Given the description of an element on the screen output the (x, y) to click on. 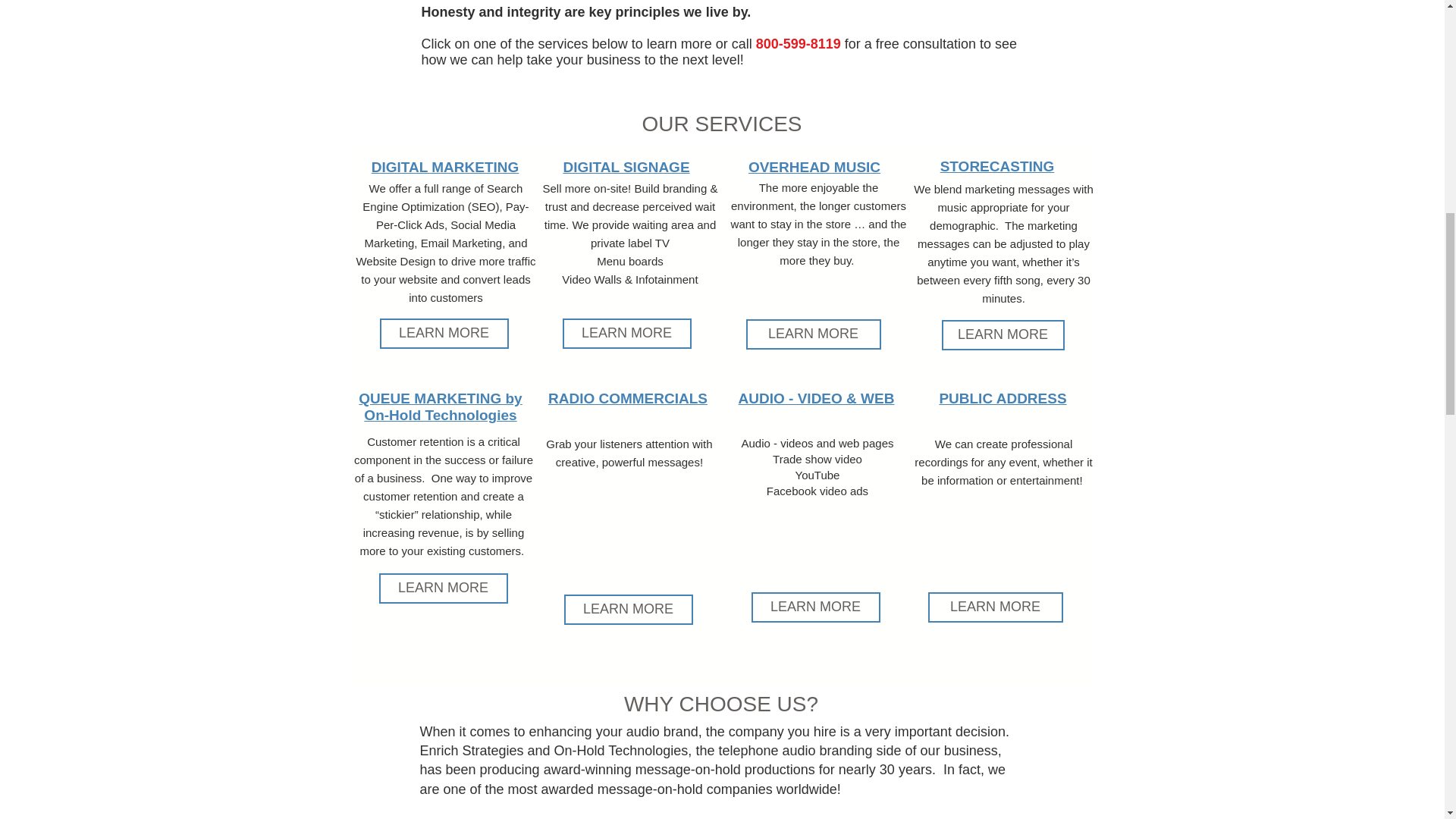
LEARN MORE (995, 607)
QUEUE MARKETING by On-Hold Technologies (439, 406)
PUBLIC ADDRESS (1002, 398)
LEARN MORE (812, 334)
LEARN MORE (626, 333)
LEARN MORE (815, 607)
RADIO COMMERCIALS (627, 398)
LEARN MORE (1003, 335)
DIGITAL SIGNAGE (625, 166)
LEARN MORE (443, 333)
LEARN MORE (628, 609)
OVERHEAD MUSIC (814, 166)
WHY CHOOSE US? (721, 703)
DIGITAL MARKETING (445, 166)
STORECASTING (997, 166)
